Given the description of an element on the screen output the (x, y) to click on. 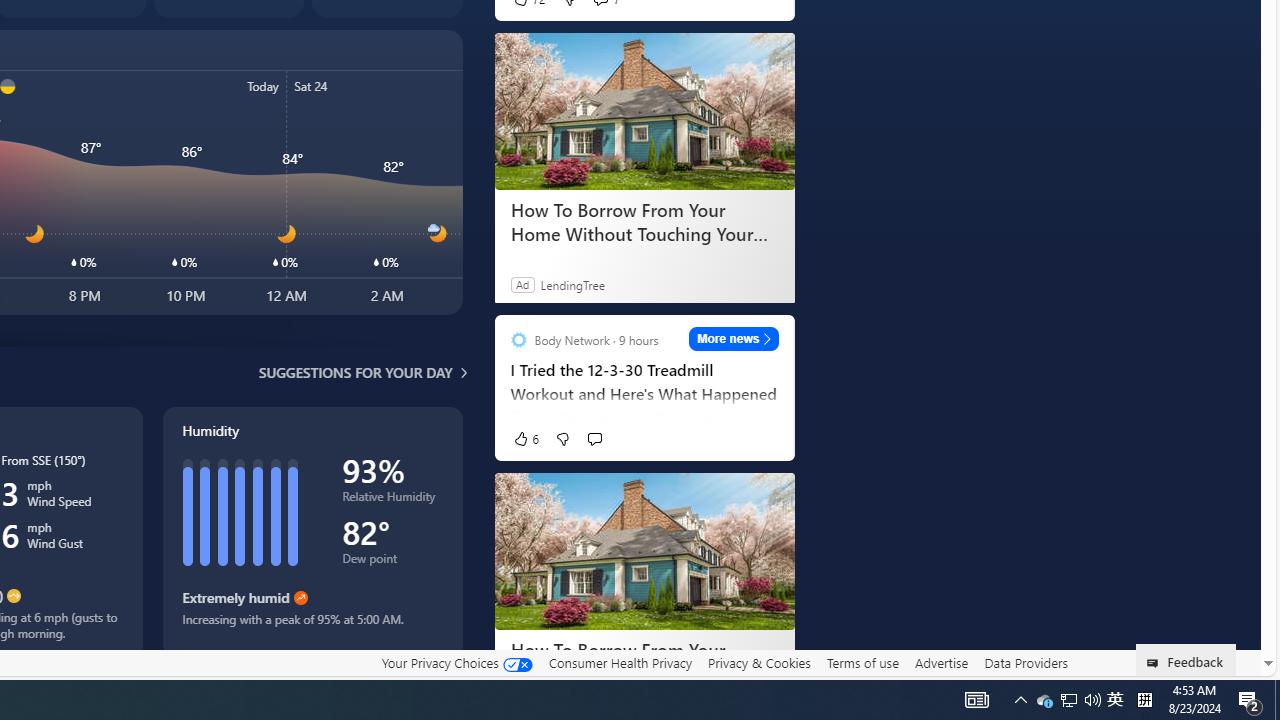
More news (733, 338)
Suggestions for your day (355, 372)
Increasing with a peak of 95% at 5:00 AM. (311, 626)
Humidity (312, 531)
Data Providers (1025, 663)
Data Providers (1025, 662)
